Given the description of an element on the screen output the (x, y) to click on. 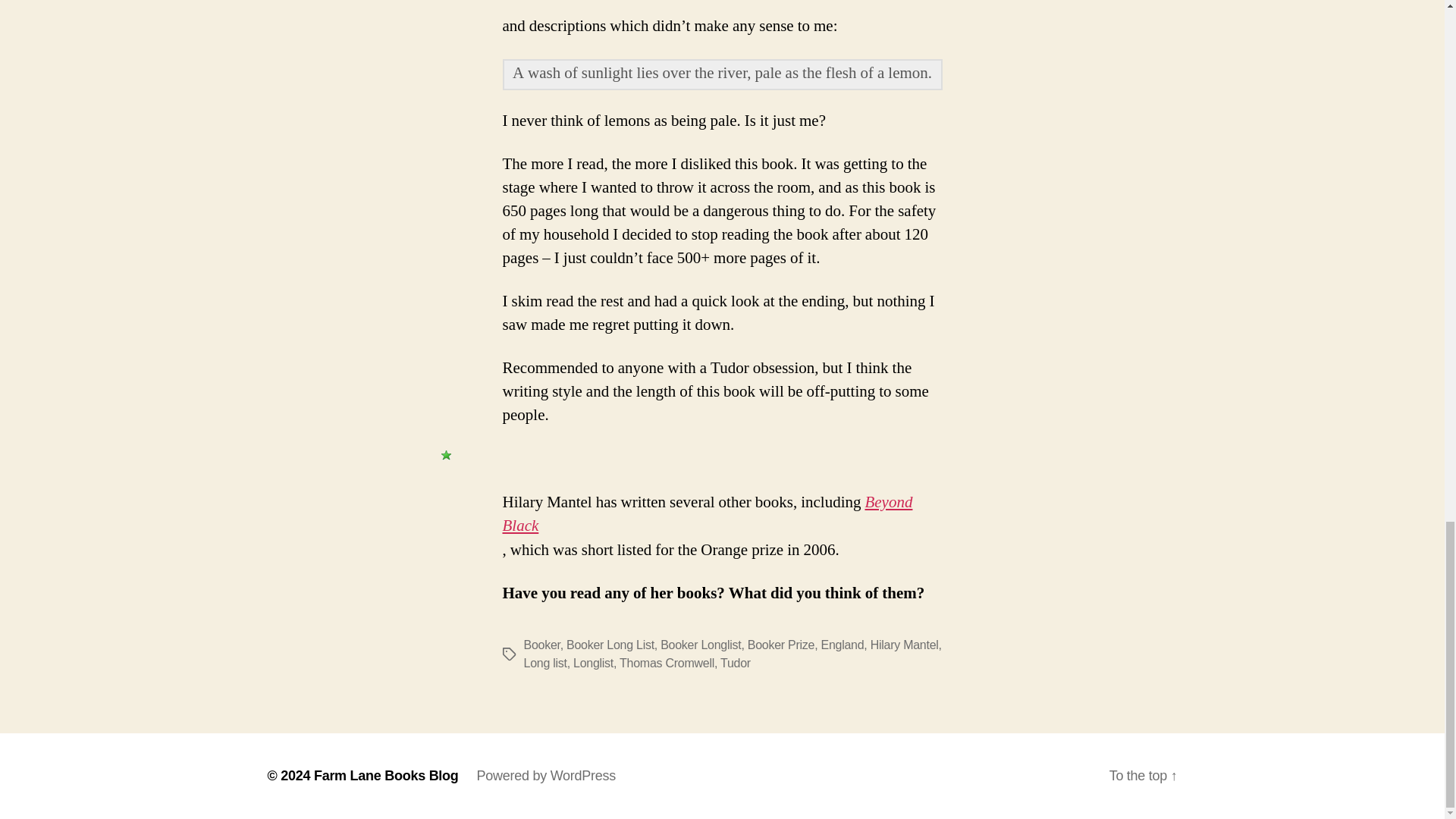
Beyond Black (707, 514)
Booker (540, 644)
stars1 (446, 455)
